Given the description of an element on the screen output the (x, y) to click on. 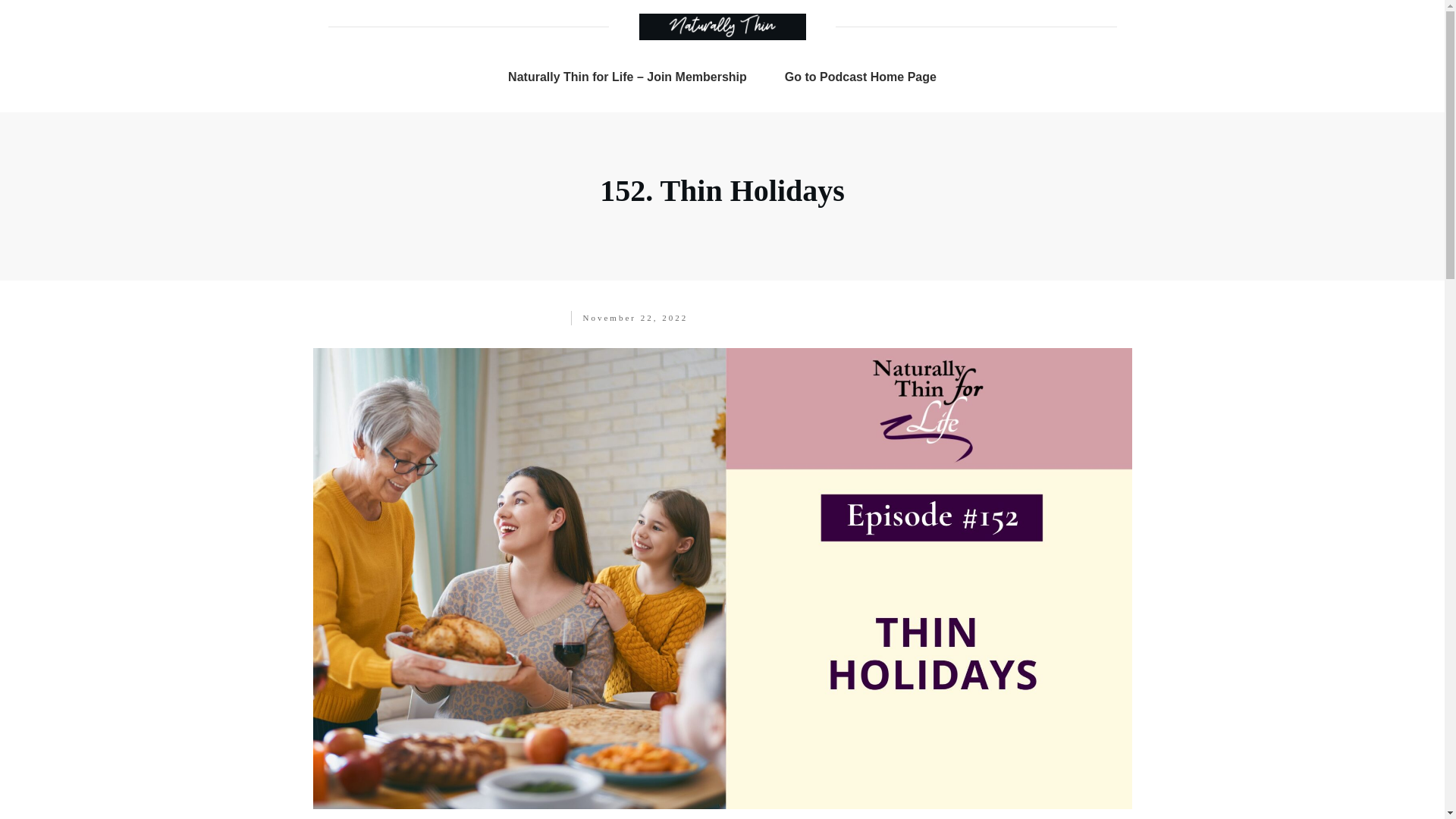
Go to Podcast Home Page (860, 77)
152. Thin Holidays (721, 189)
152. Thin Holidays (721, 189)
